Given the description of an element on the screen output the (x, y) to click on. 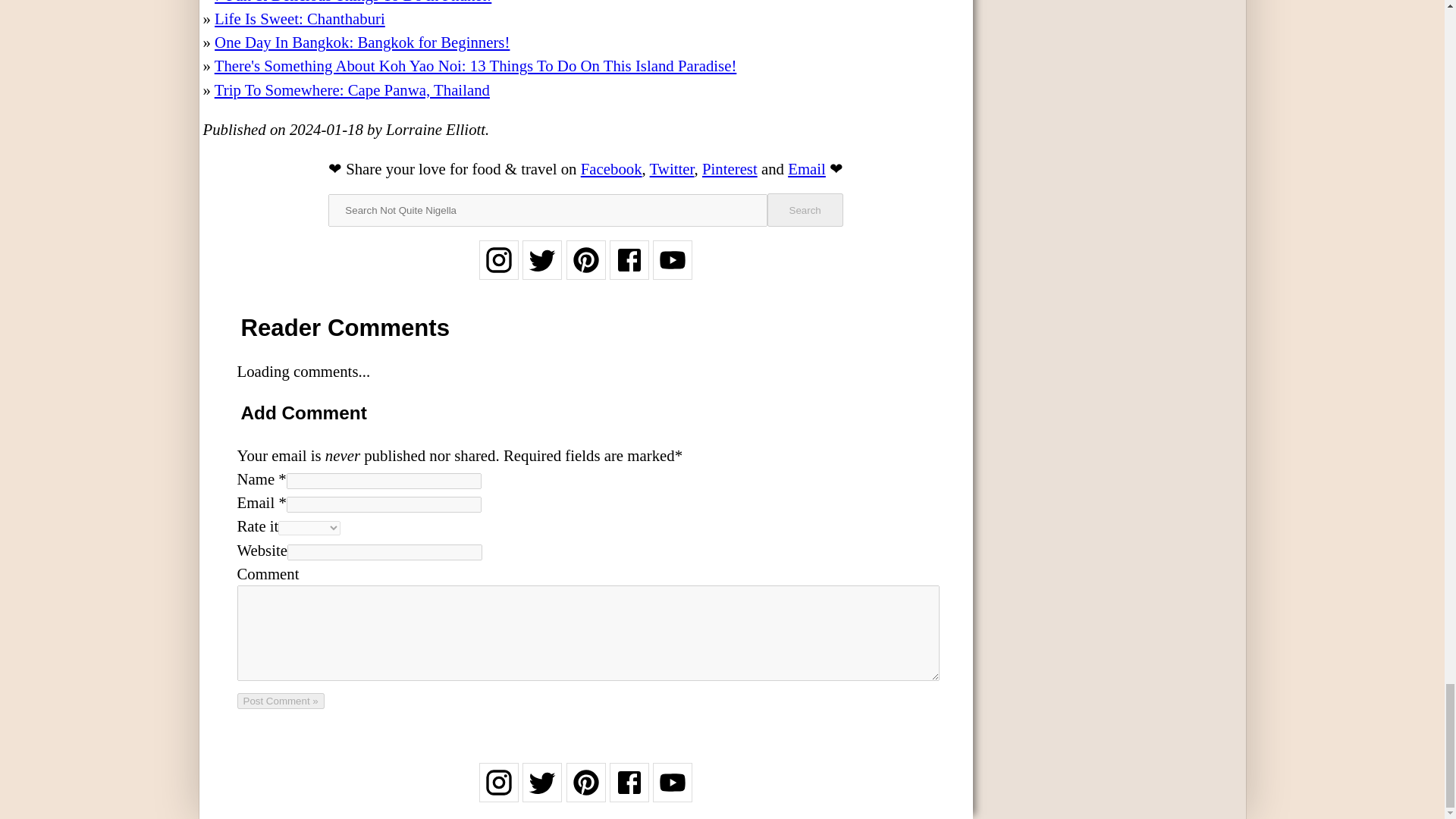
Follow on Pinterest (584, 269)
Follow on Twitter (542, 791)
Trip To Somewhere: Cape Panwa, Thailand (351, 89)
Follow on Facebook (629, 269)
Tweet (671, 168)
Facebook (611, 168)
Share on Facebook (611, 168)
Follow on Pinterest (584, 791)
Pinterest (729, 168)
Pin it (729, 168)
